Given the description of an element on the screen output the (x, y) to click on. 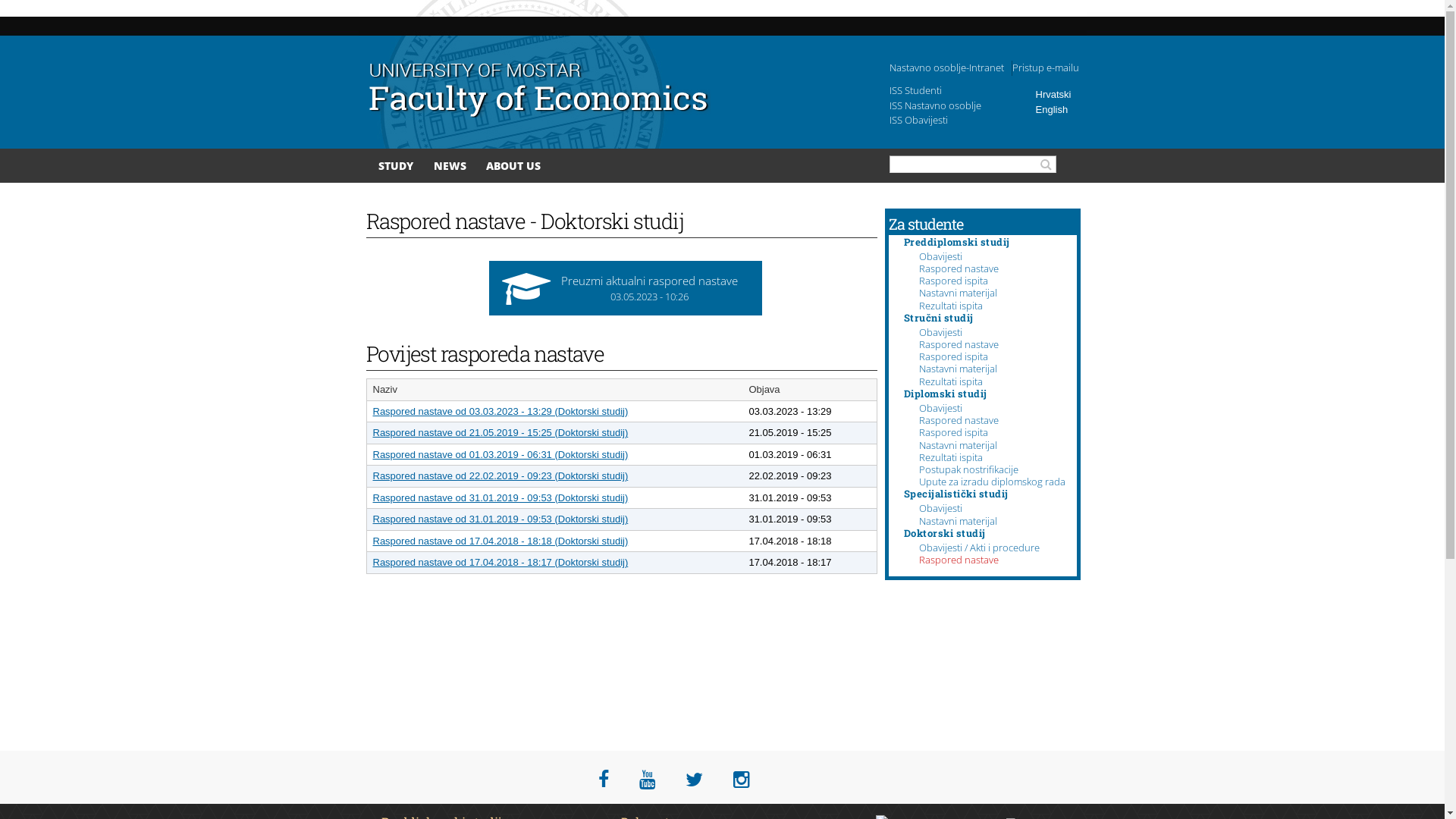
Raspored nastave od 01.03.2019 - 06:31 (Doktorski studij) Element type: text (500, 454)
Obavijesti / Akti i procedure Element type: text (979, 547)
Search Element type: text (1047, 164)
Raspored nastave Element type: text (958, 344)
Obavijesti Element type: text (940, 256)
Obavijesti Element type: text (940, 507)
Rezultati ispita Element type: text (950, 457)
Postupak nostrifikacije Element type: text (968, 469)
Raspored nastave od 31.01.2019 - 09:53 (Doktorski studij) Element type: text (500, 496)
Raspored nastave od 22.02.2019 - 09:23 (Doktorski studij) Element type: text (500, 475)
Preuzmi aktualni raspored nastave
03.05.2023 - 10:26 Element type: text (624, 288)
Raspored nastave od 03.03.2023 - 13:29 (Doktorski studij) Element type: text (500, 410)
Nastavni materijal Element type: text (958, 444)
Raspored ispita Element type: text (953, 432)
Nastavni materijal Element type: text (958, 520)
English Element type: text (1051, 108)
Obavijesti Element type: text (940, 331)
Hrvatski Element type: text (1053, 94)
NEWS Element type: text (449, 165)
Raspored nastave od 21.05.2019 - 15:25 (Doktorski studij) Element type: text (500, 432)
Pristup e-mailu Element type: text (1044, 67)
Raspored nastave od 17.04.2018 - 18:18 (Doktorski studij) Element type: text (500, 540)
Rezultati ispita Element type: text (950, 381)
Obavijesti Element type: text (940, 407)
Raspored ispita Element type: text (953, 280)
Nastavni materijal Element type: text (958, 368)
Raspored nastave od 17.04.2018 - 18:17 (Doktorski studij) Element type: text (500, 561)
Rezultati ispita Element type: text (950, 305)
ISS Studenti Element type: text (914, 90)
Skip to main content Element type: text (694, 1)
Nastavno osoblje-Intranet Element type: text (945, 67)
Raspored nastave od 31.01.2019 - 09:53 (Doktorski studij) Element type: text (500, 518)
ISS Obavijesti Element type: text (917, 119)
ISS Nastavno osoblje Element type: text (934, 105)
STUDY Element type: text (395, 165)
Raspored nastave Element type: text (958, 419)
ABOUT US Element type: text (513, 165)
Nastavni materijal Element type: text (958, 292)
Raspored ispita Element type: text (953, 356)
Enter the terms you wish to search for. Element type: hover (972, 163)
Raspored nastave Element type: text (958, 559)
Upute za izradu diplomskog rada Element type: text (992, 481)
Raspored nastave Element type: text (958, 268)
